Given the description of an element on the screen output the (x, y) to click on. 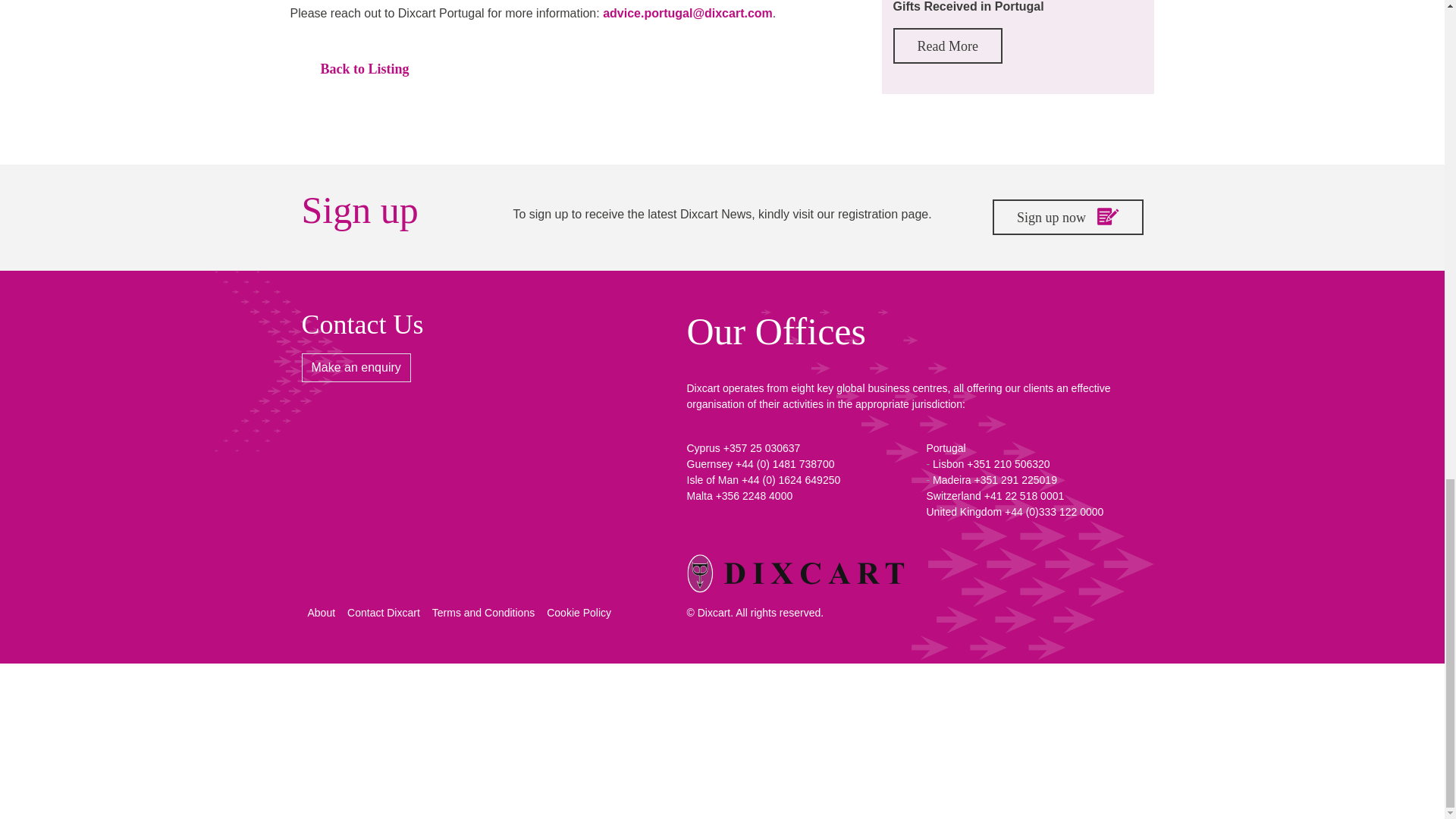
Cookie Policy (578, 612)
About (321, 612)
Terms and Conditions (483, 612)
Contact Dixcart (383, 612)
